Given the description of an element on the screen output the (x, y) to click on. 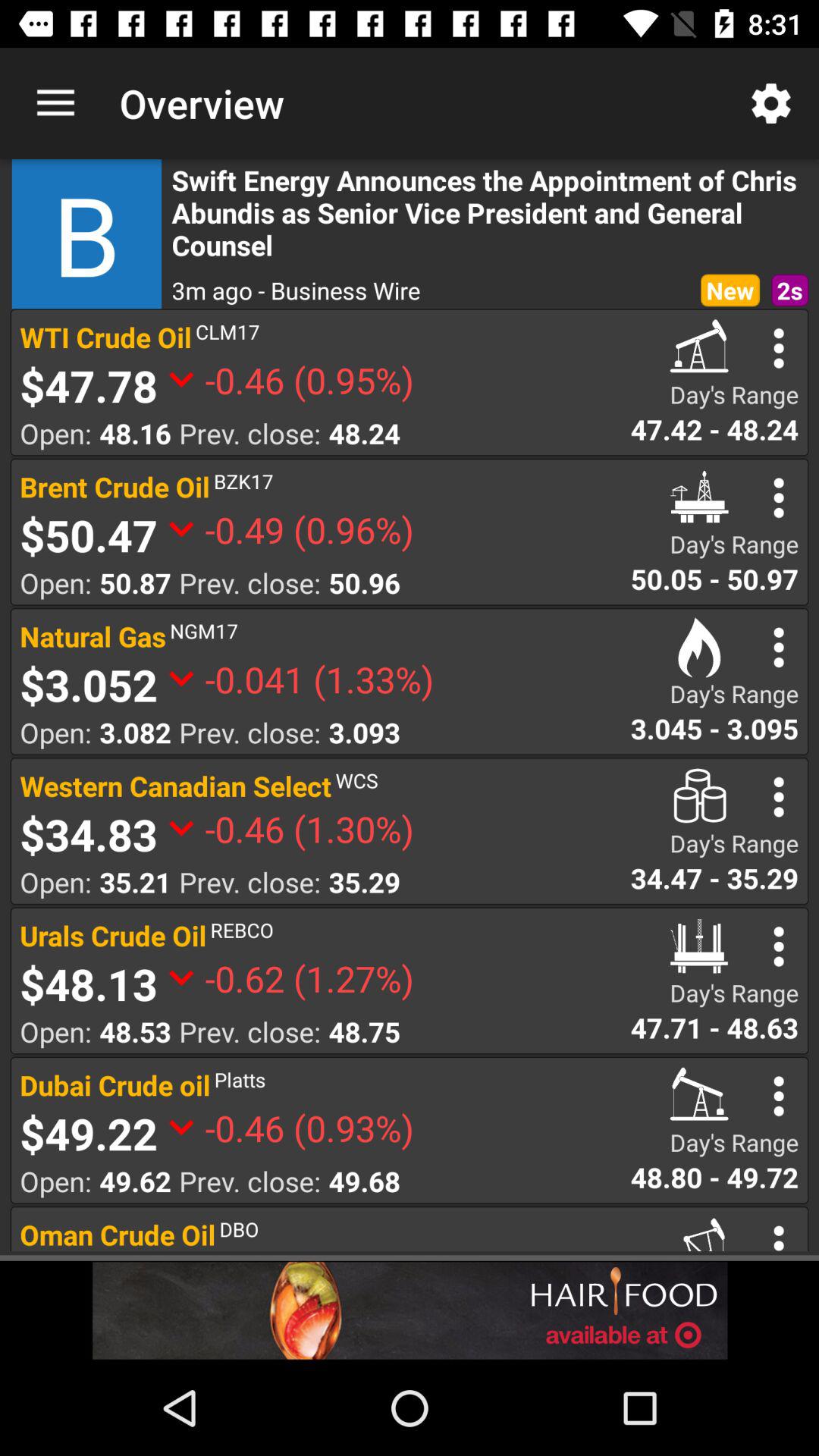
open options (778, 647)
